Given the description of an element on the screen output the (x, y) to click on. 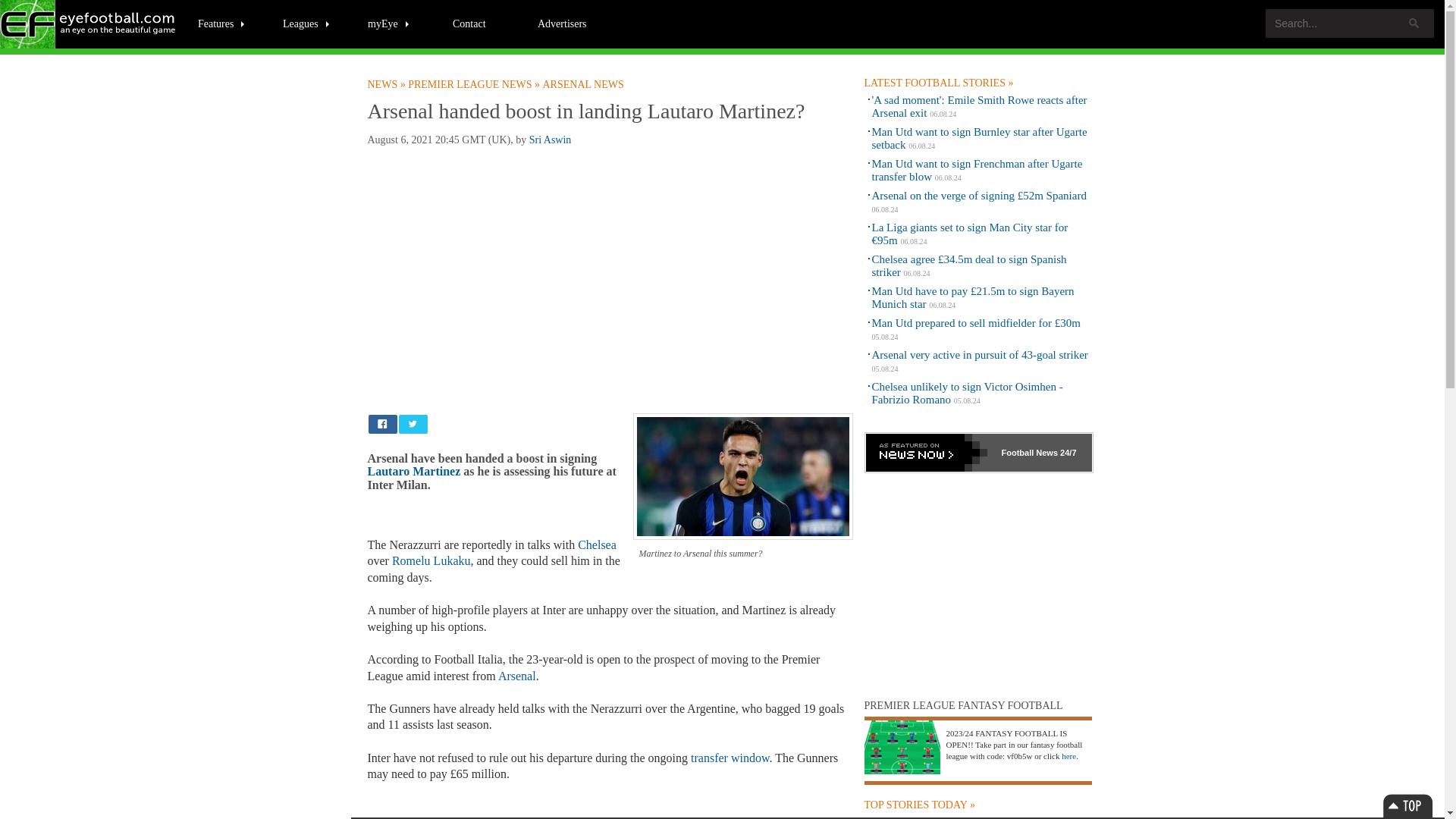
Top (1407, 805)
myEye (389, 23)
Football News (88, 24)
Leagues (306, 23)
ARSENAL NEWS (583, 84)
Lautaro Martinez (413, 471)
Arsenal (516, 675)
Romelu Lukaku (430, 560)
Premier League news (474, 84)
Advertisers (561, 23)
Chelsea (596, 544)
Sri Aswin (550, 139)
Search... (1349, 23)
Features (221, 23)
Search (1414, 22)
